Given the description of an element on the screen output the (x, y) to click on. 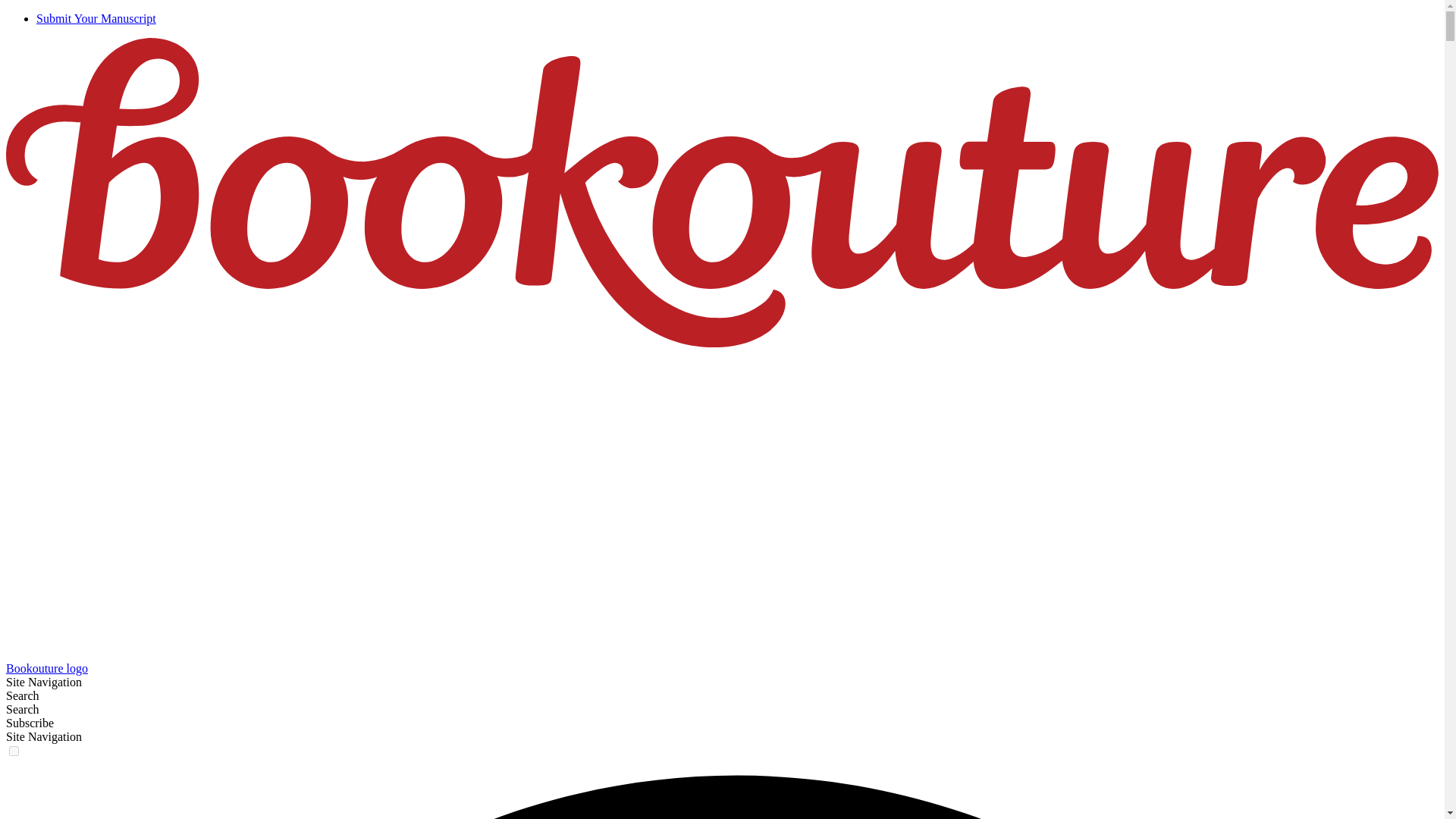
on (13, 750)
Submit Your Manuscript (95, 18)
